Given the description of an element on the screen output the (x, y) to click on. 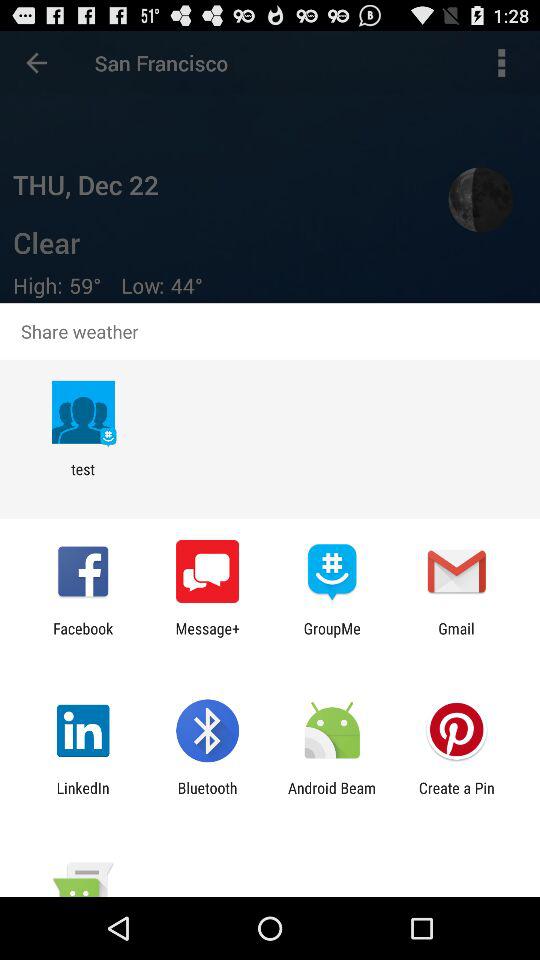
open icon to the left of android beam app (207, 796)
